Given the description of an element on the screen output the (x, y) to click on. 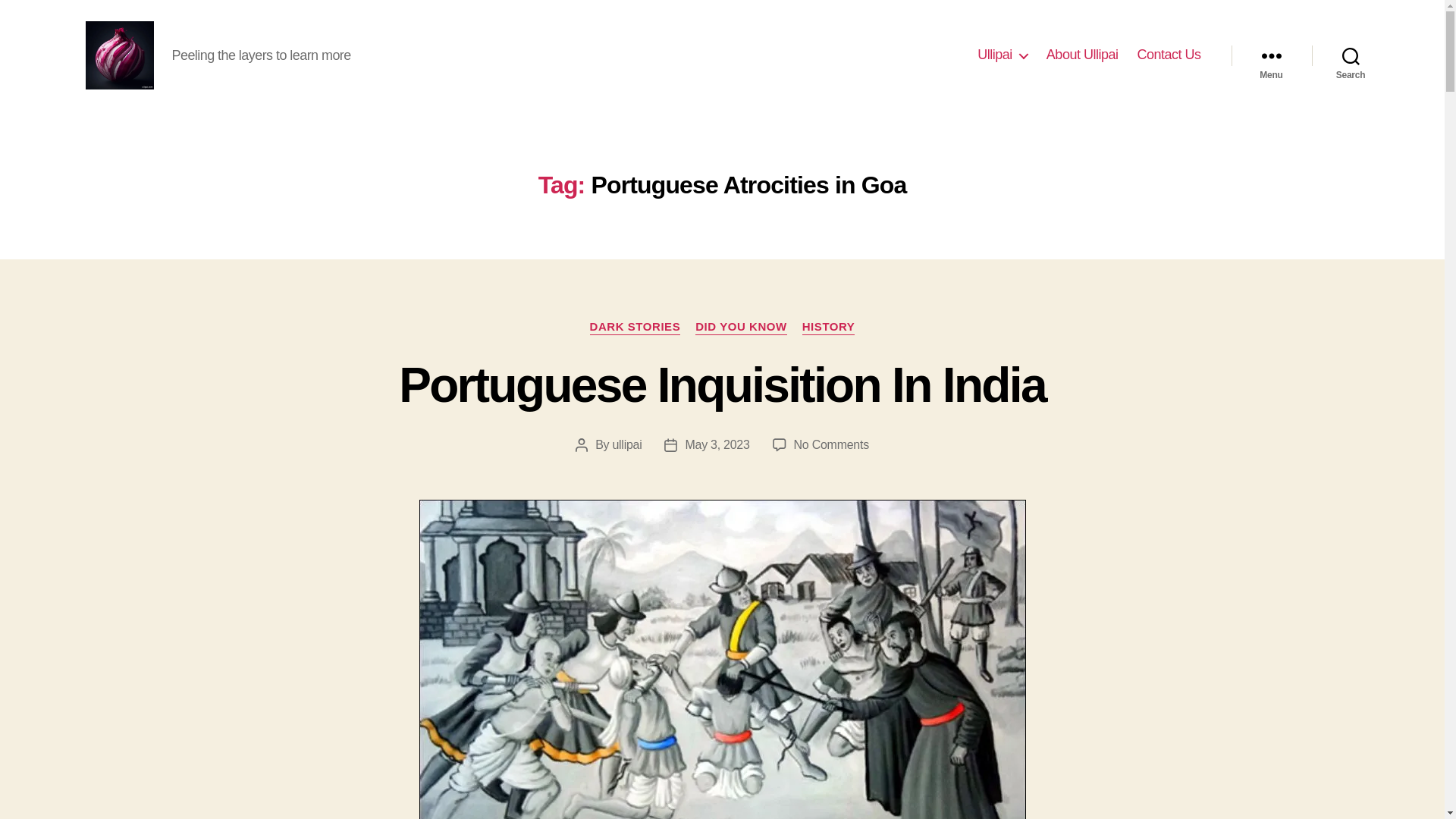
Menu (1271, 55)
Contact Us (1168, 54)
About Ullipai (1082, 54)
Ullipai (1001, 54)
Search (1350, 55)
